Given the description of an element on the screen output the (x, y) to click on. 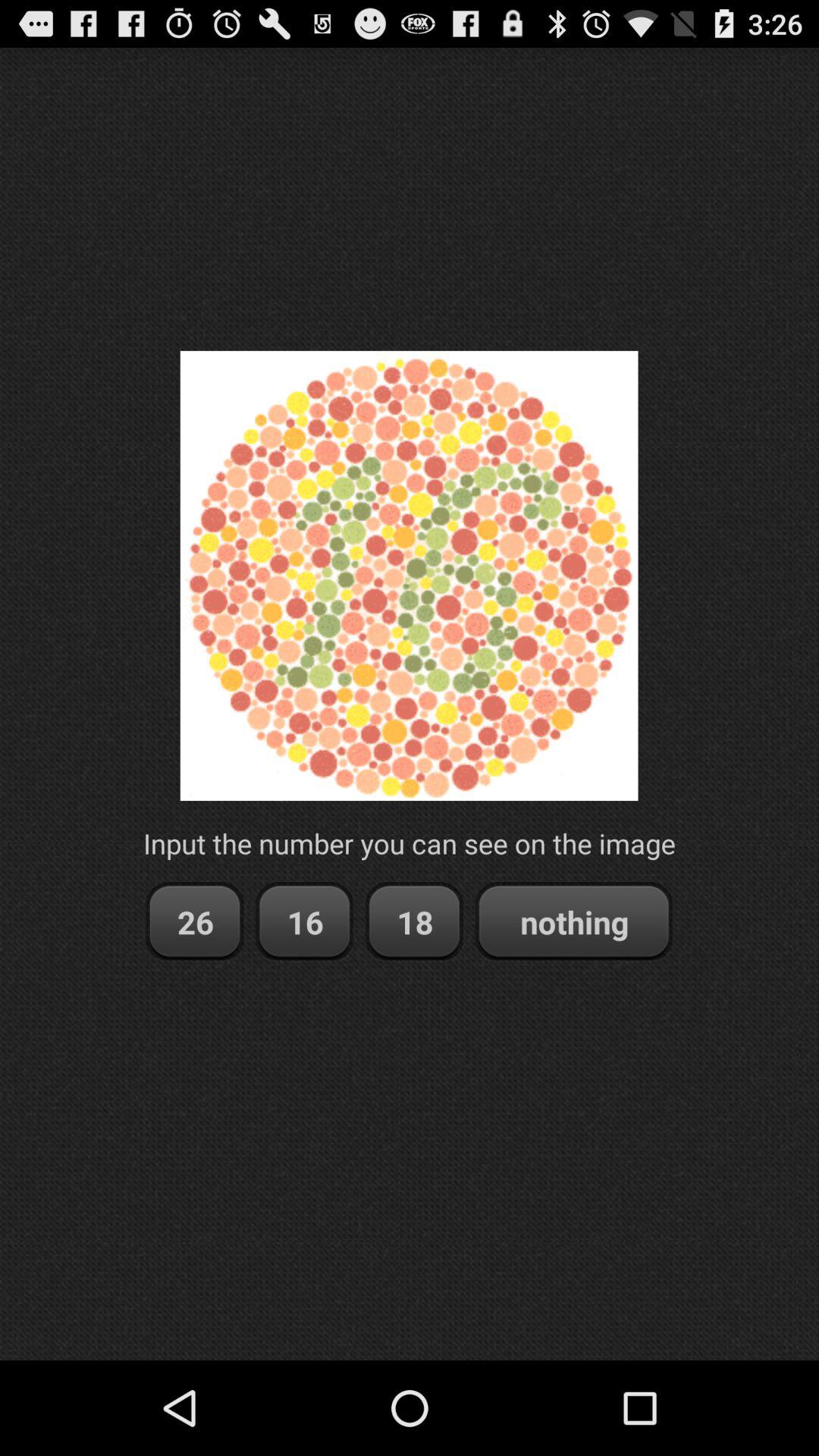
select 16 (304, 921)
